Given the description of an element on the screen output the (x, y) to click on. 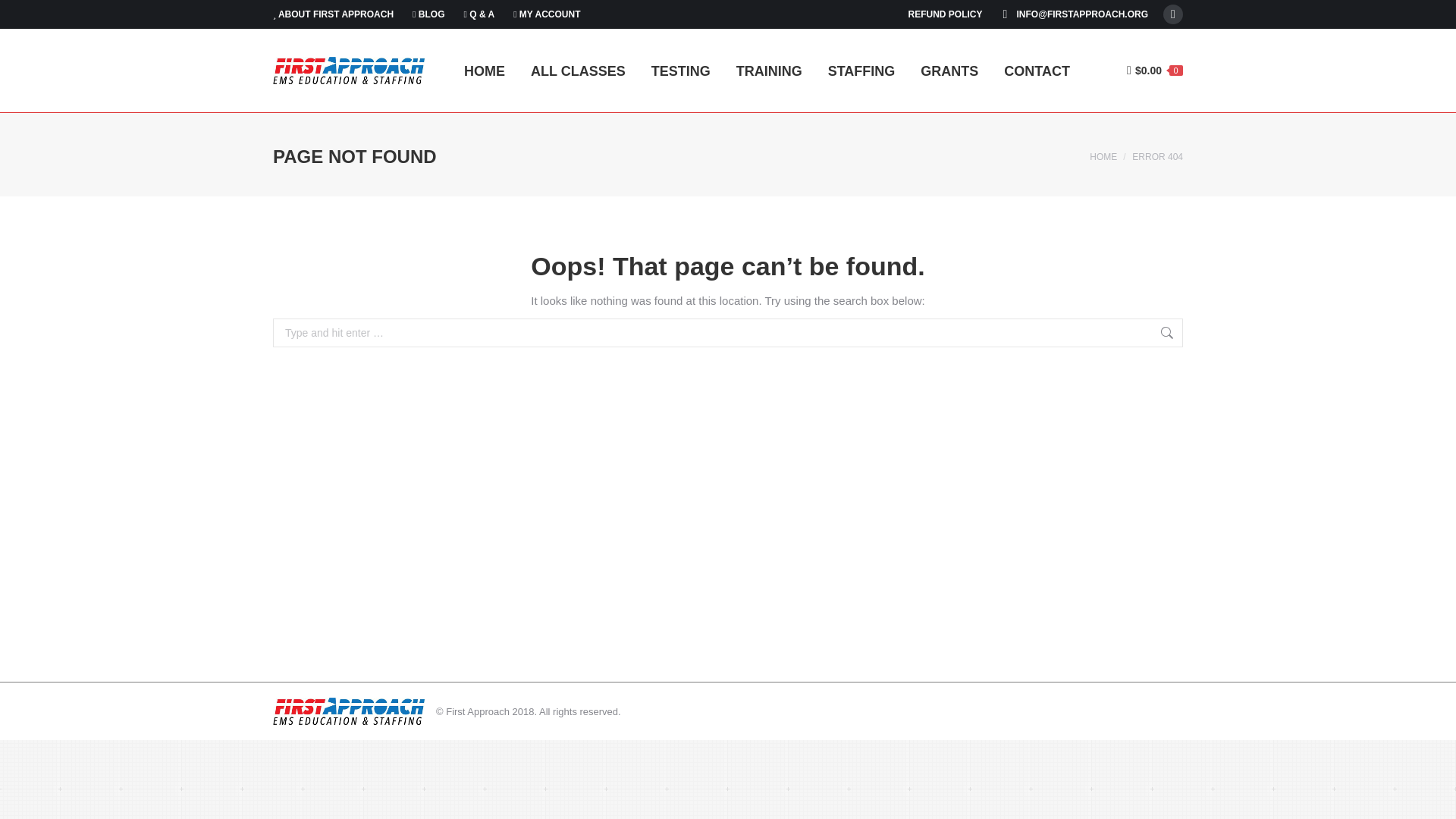
TRAINING (768, 70)
Home (1102, 156)
TESTING (680, 70)
Go! (1205, 333)
GRANTS (949, 70)
HOME (483, 70)
Facebook page opens in new window (1172, 14)
STAFFING (861, 70)
ABOUT FIRST APPROACH (333, 14)
MY ACCOUNT (546, 14)
